Given the description of an element on the screen output the (x, y) to click on. 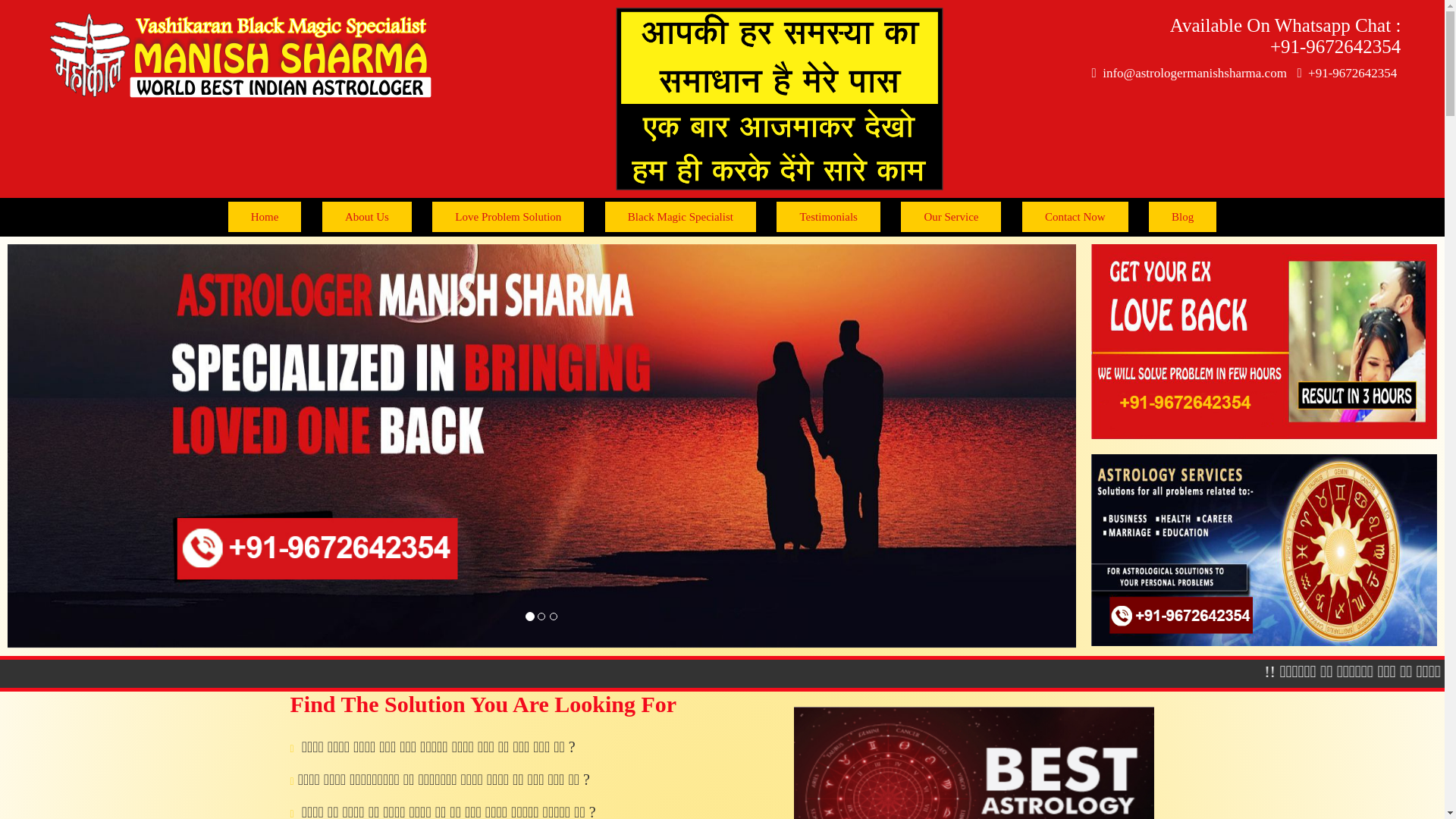
Black Magic Specialist (680, 216)
Our Service (951, 216)
Testimonials (827, 216)
About Us (366, 216)
Love Problem Solution (507, 216)
contact us (1075, 216)
Contact Now (1075, 216)
Black Magic Specialist (680, 216)
about us (366, 216)
Testimonials (827, 216)
contact us (1181, 216)
Love Problem Solution (507, 216)
Wazifa For Husband (1263, 341)
Wazifa For Husband (1263, 550)
